Given the description of an element on the screen output the (x, y) to click on. 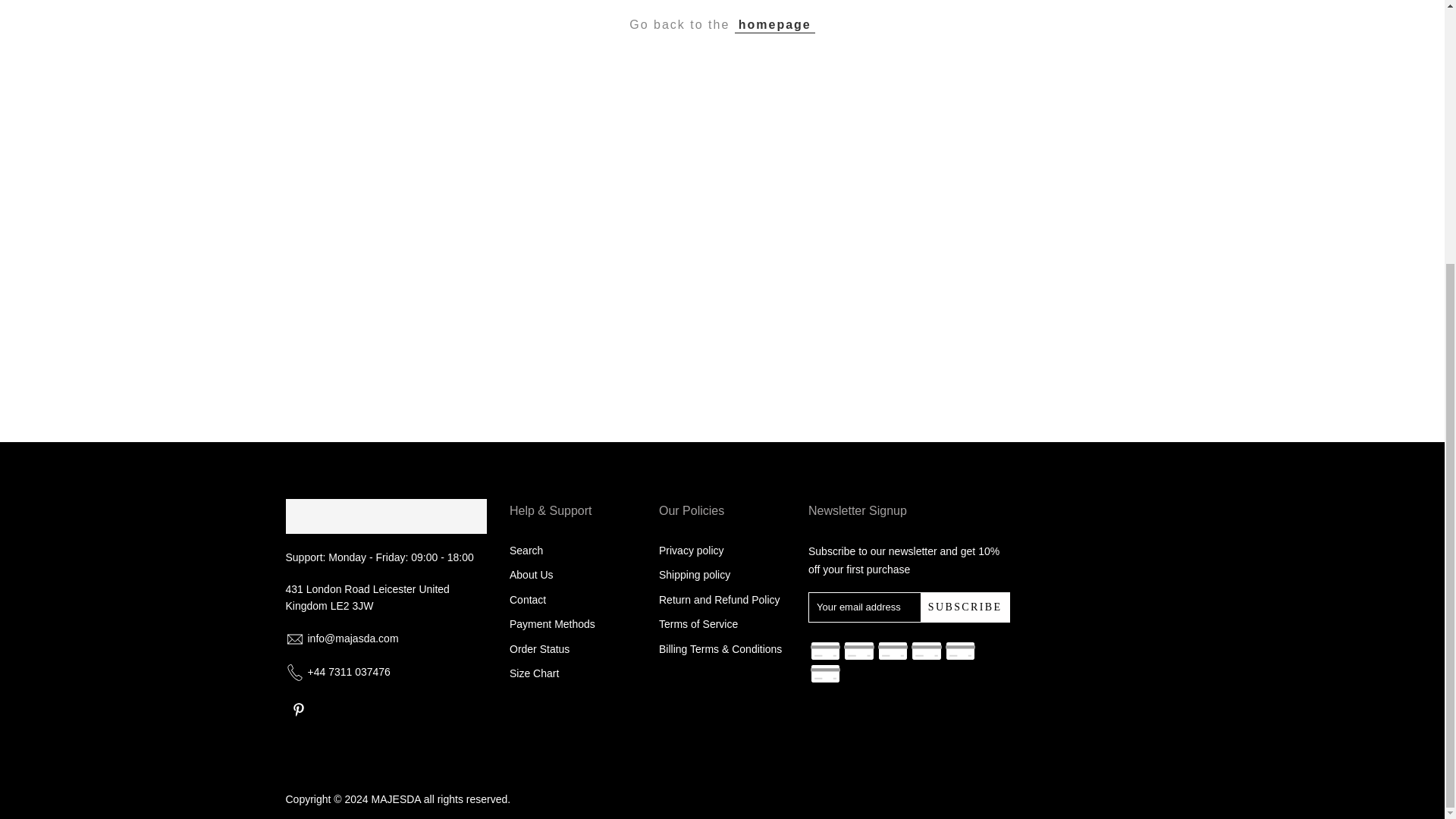
Order Status (539, 648)
Size Chart (534, 673)
Search (526, 550)
About Us (531, 574)
Payment Methods (552, 623)
Return and Refund Policy (719, 599)
Contact (527, 599)
Privacy policy (691, 550)
Follow on Pinterest (298, 709)
homepage (775, 24)
